Given the description of an element on the screen output the (x, y) to click on. 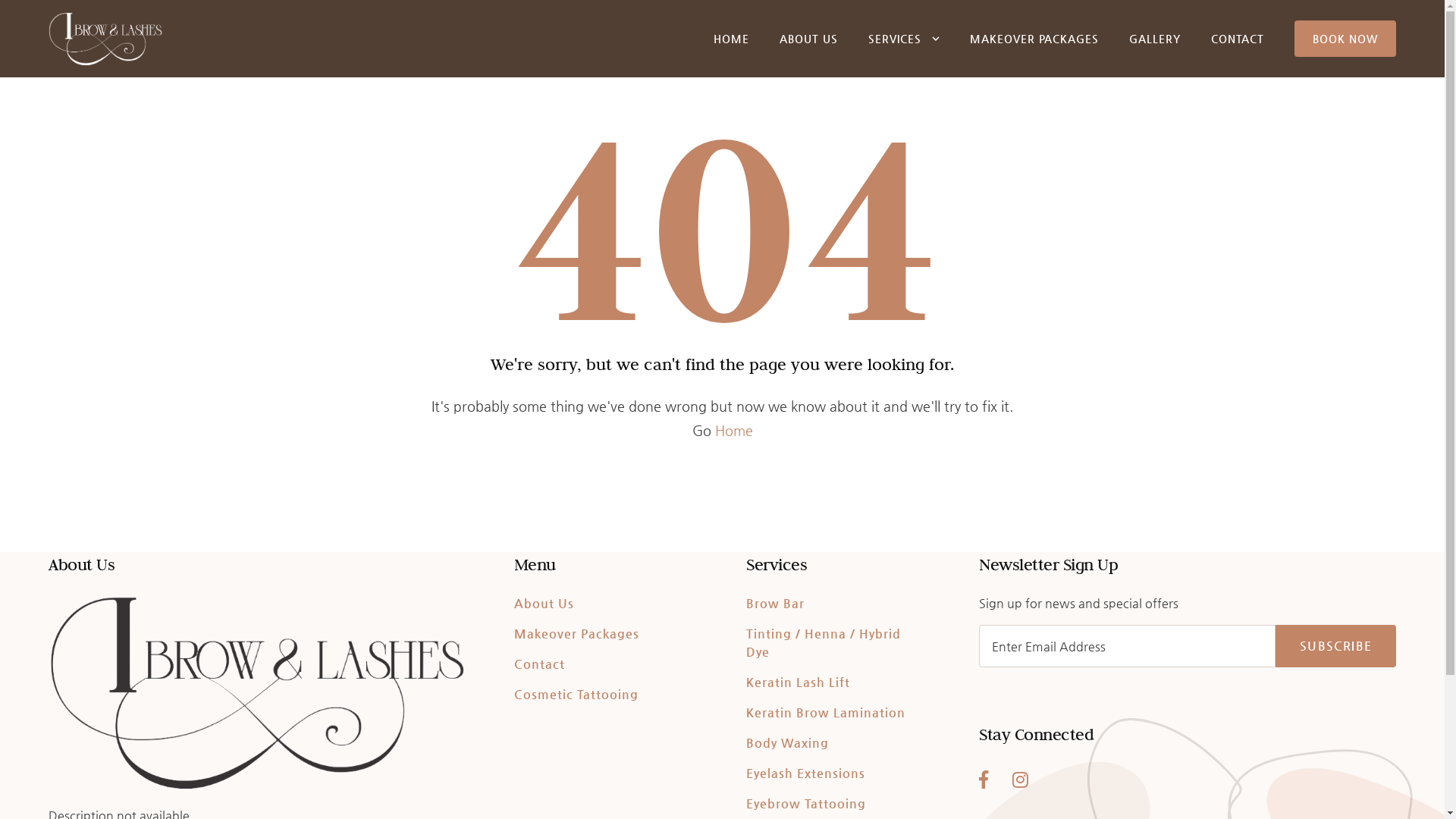
ABOUT US Element type: text (808, 38)
Brow Bar Element type: text (780, 603)
Contact Element type: text (544, 663)
Eyebrow Tattooing Element type: text (811, 803)
Home Element type: text (733, 430)
SERVICES Element type: text (894, 38)
Tinting / Henna / Hybrid Dye Element type: text (823, 642)
About Us Element type: text (549, 603)
BOOK NOW Element type: text (1345, 38)
HOME Element type: text (731, 38)
Cosmetic Tattooing Element type: text (581, 694)
Makeover Packages Element type: text (581, 633)
Body Waxing Element type: text (792, 742)
Eyelash Extensions Element type: text (810, 772)
Keratin Brow Lamination Element type: text (831, 712)
SUBSCRIBE Element type: text (1335, 645)
Keratin Lash Lift Element type: text (803, 681)
MAKEOVER PACKAGES Element type: text (1033, 38)
CONTACT Element type: text (1237, 38)
GALLERY Element type: text (1154, 38)
